Given the description of an element on the screen output the (x, y) to click on. 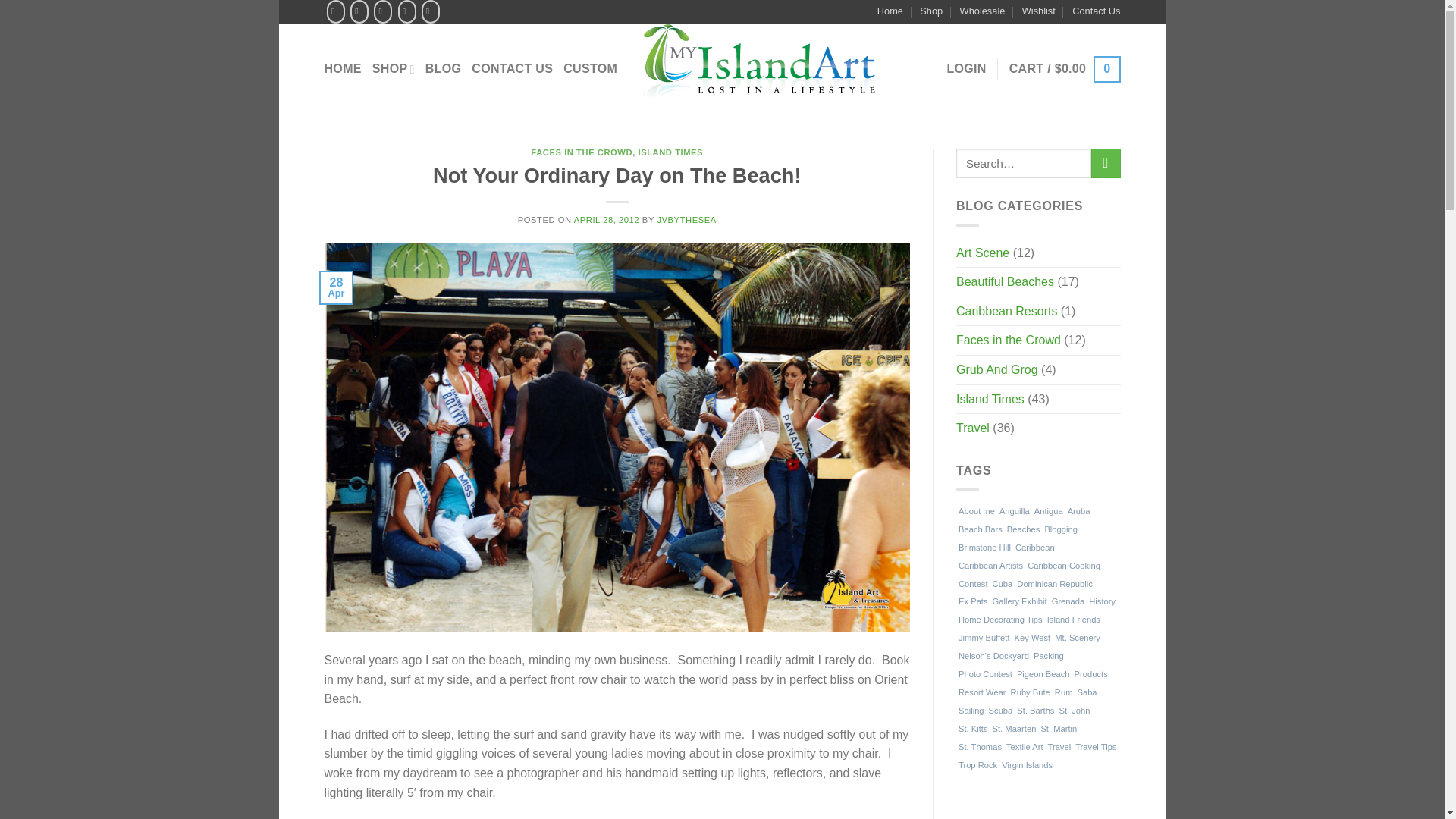
SHOP (393, 68)
HOME (342, 68)
